Given the description of an element on the screen output the (x, y) to click on. 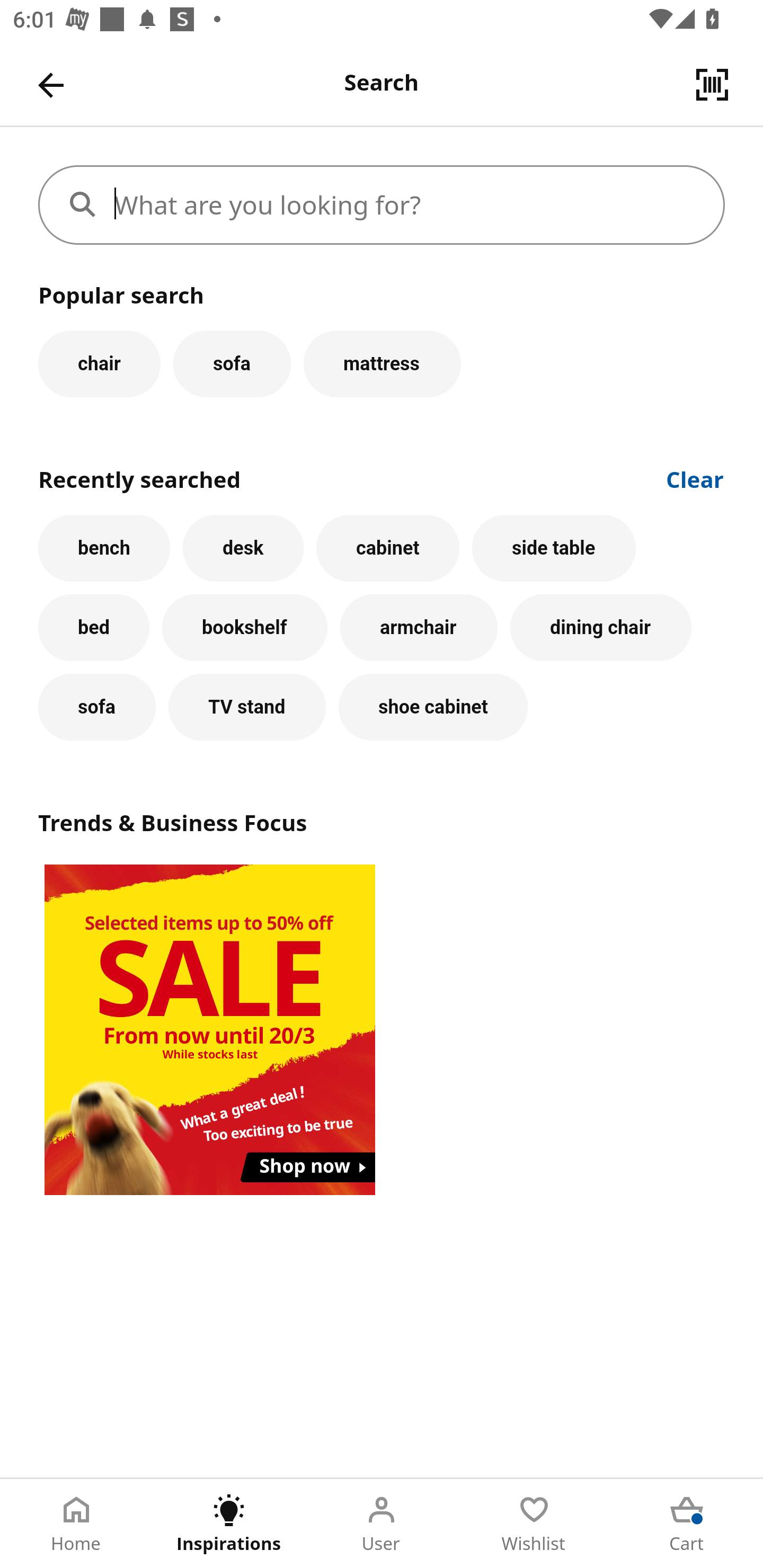
chair (99, 363)
sofa (231, 363)
mattress (381, 363)
Clear (695, 477)
bench (104, 547)
desk (243, 547)
cabinet (387, 547)
side table (553, 547)
bed (93, 627)
bookshelf (244, 627)
armchair (418, 627)
dining chair (600, 627)
sofa (96, 707)
TV stand (246, 707)
shoe cabinet (432, 707)
Home
Tab 1 of 5 (76, 1522)
Inspirations
Tab 2 of 5 (228, 1522)
User
Tab 3 of 5 (381, 1522)
Wishlist
Tab 4 of 5 (533, 1522)
Cart
Tab 5 of 5 (686, 1522)
